Given the description of an element on the screen output the (x, y) to click on. 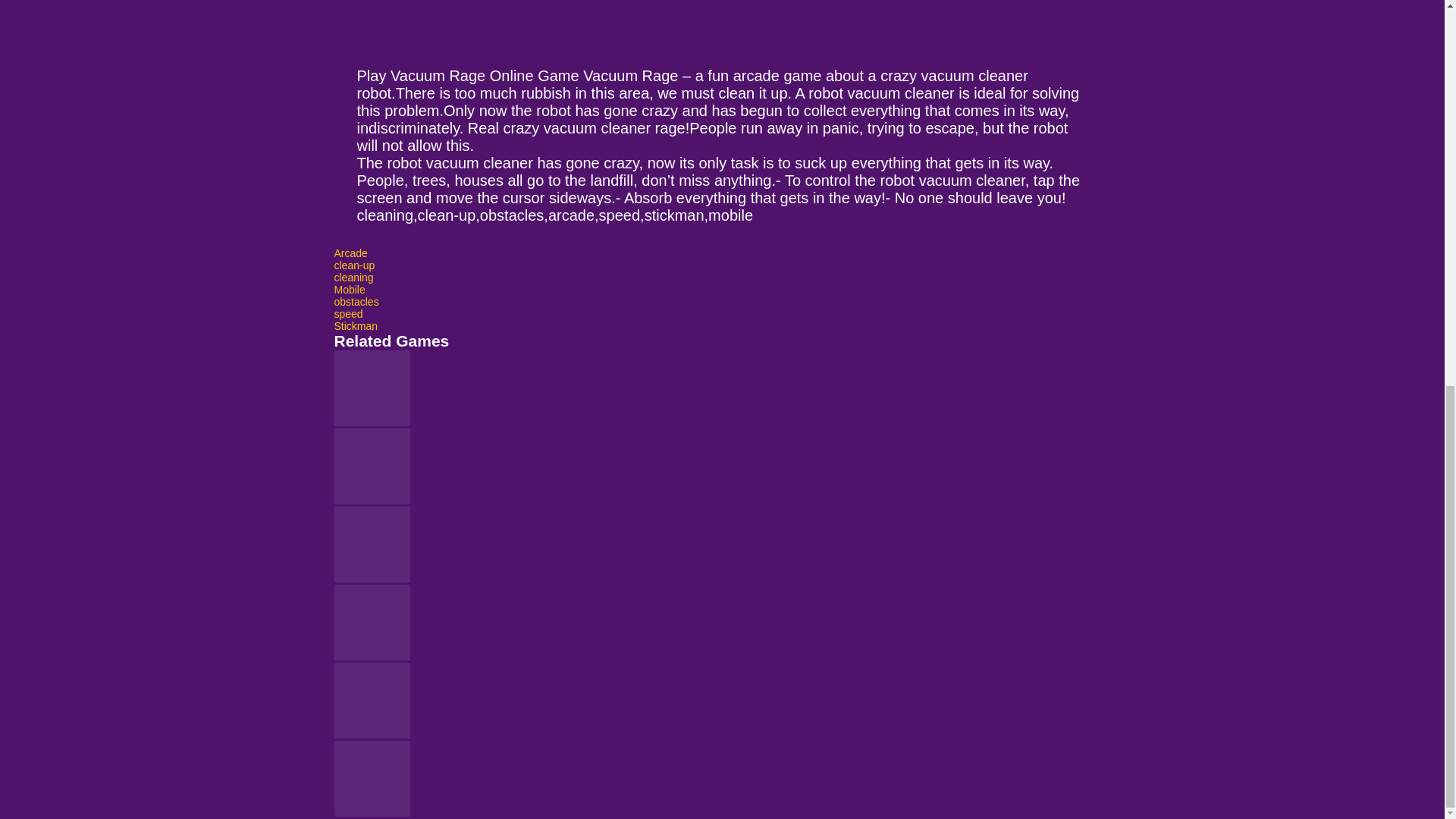
Stickman (355, 326)
obstacles (355, 301)
Mobile (349, 289)
Surfer Cat (721, 545)
Cut The Rope 3D (721, 389)
Arcade (349, 253)
cleaning (352, 277)
BU (721, 701)
Jelly Match 4 (721, 467)
speed (347, 313)
